Given the description of an element on the screen output the (x, y) to click on. 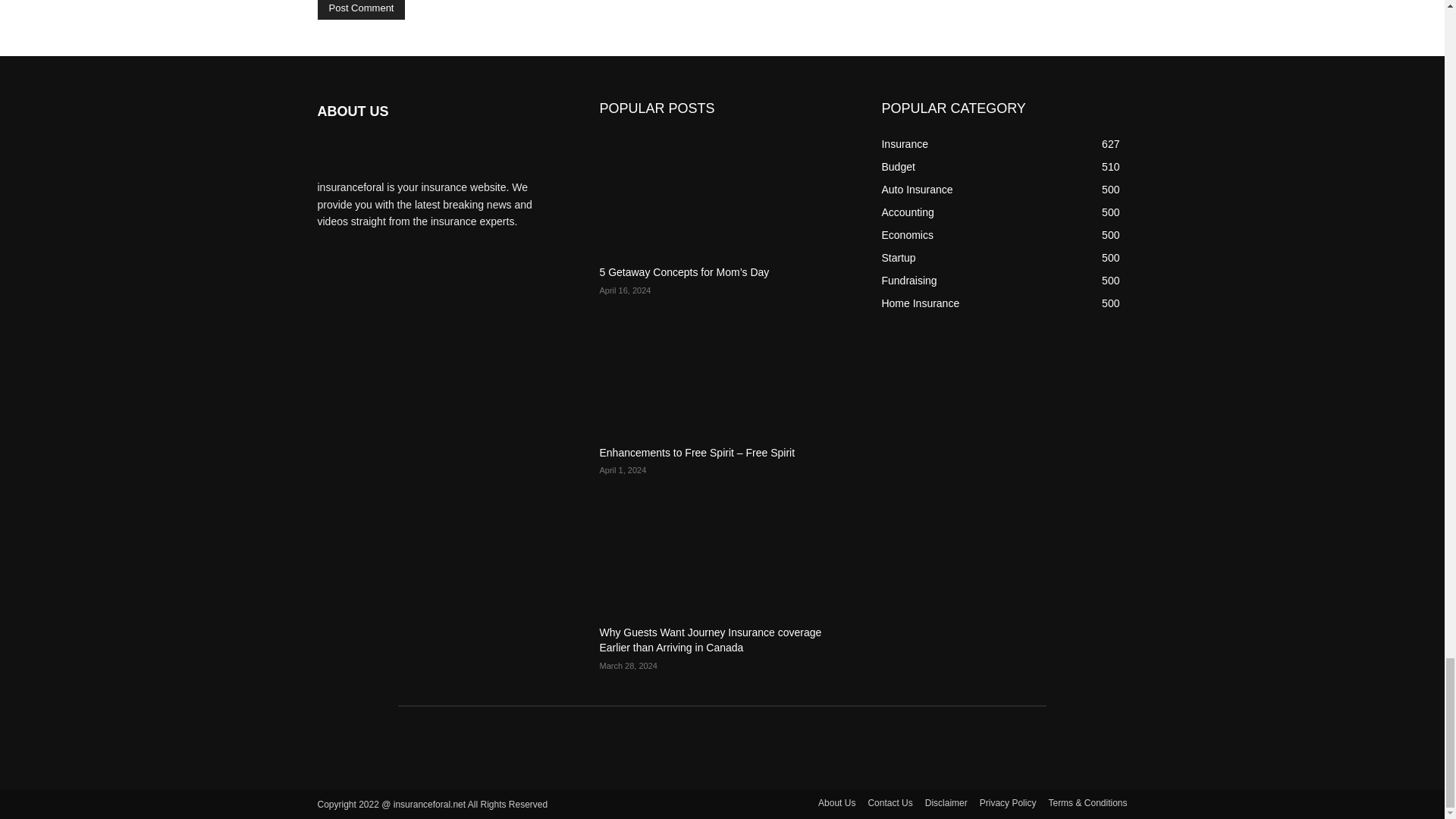
Post Comment (360, 9)
